Given the description of an element on the screen output the (x, y) to click on. 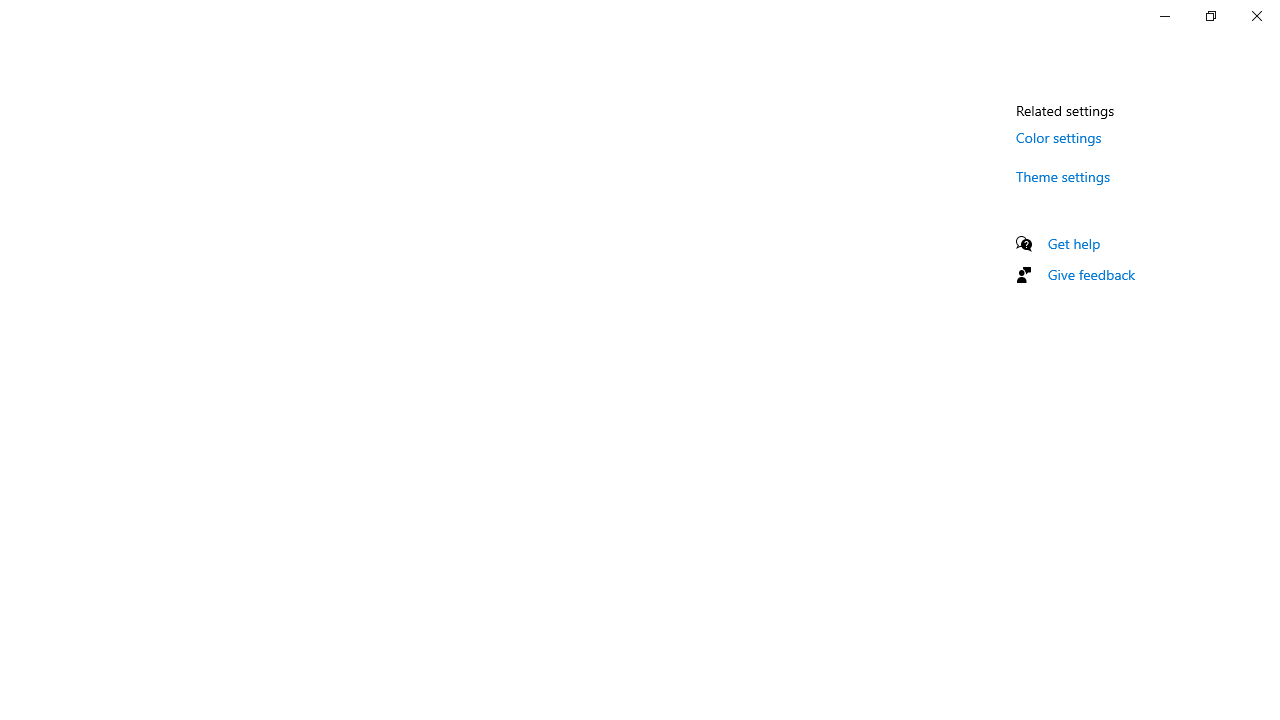
Restore Settings (1210, 15)
Close Settings (1256, 15)
Get help (1074, 243)
Theme settings (1063, 176)
Minimize Settings (1164, 15)
Give feedback (1091, 273)
Color settings (1059, 137)
